Given the description of an element on the screen output the (x, y) to click on. 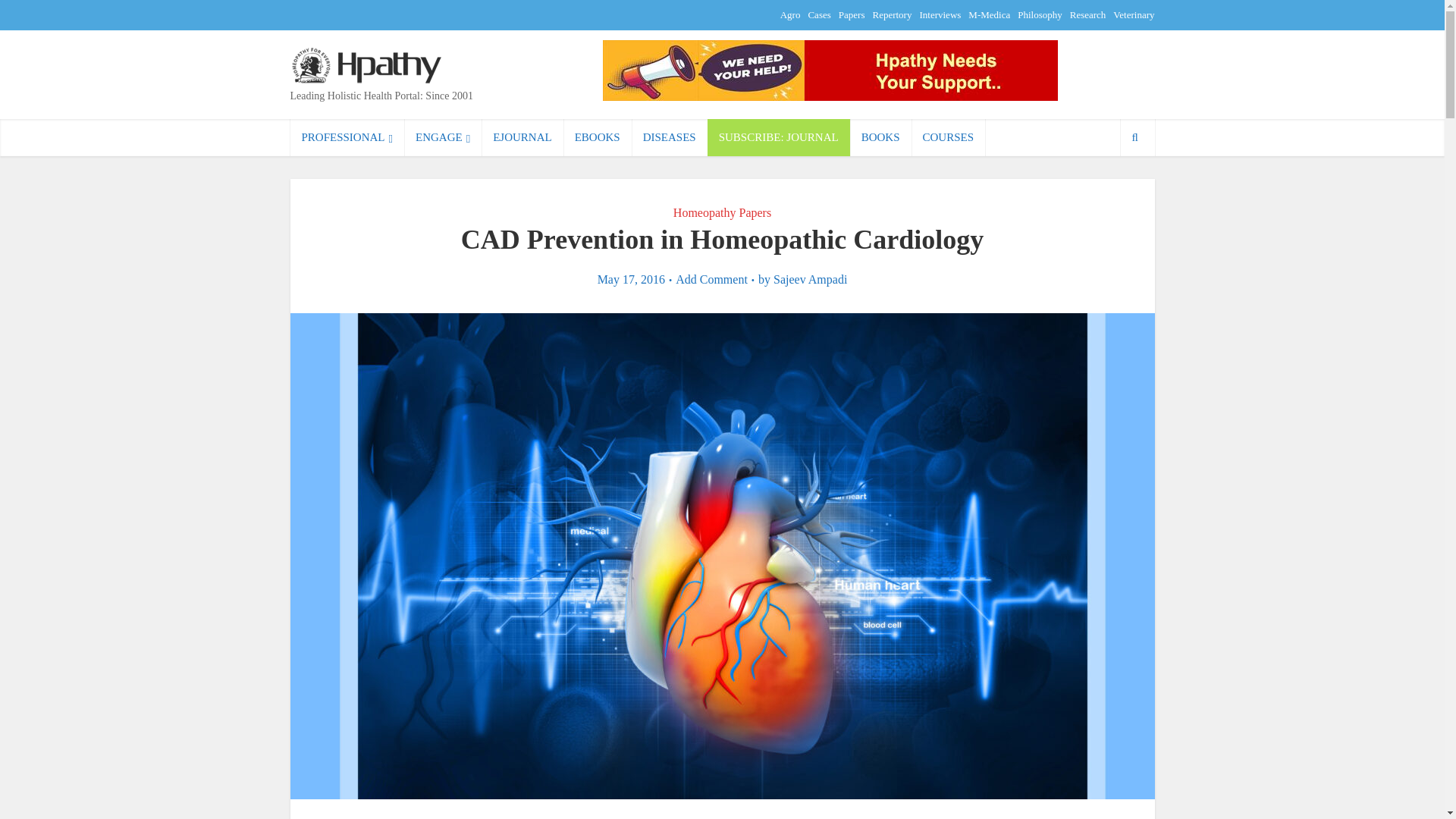
Veterinary (1133, 14)
EBOOKS (597, 137)
COURSES (948, 137)
Papers (851, 14)
EJOURNAL (522, 137)
Philosophy (1039, 14)
DISEASES (669, 137)
ENGAGE (442, 137)
Interviews (939, 14)
PROFESSIONAL (346, 137)
M-Medica (989, 14)
Agro (790, 14)
Research (1088, 14)
Cases (818, 14)
SUBSCRIBE: JOURNAL (778, 137)
